Given the description of an element on the screen output the (x, y) to click on. 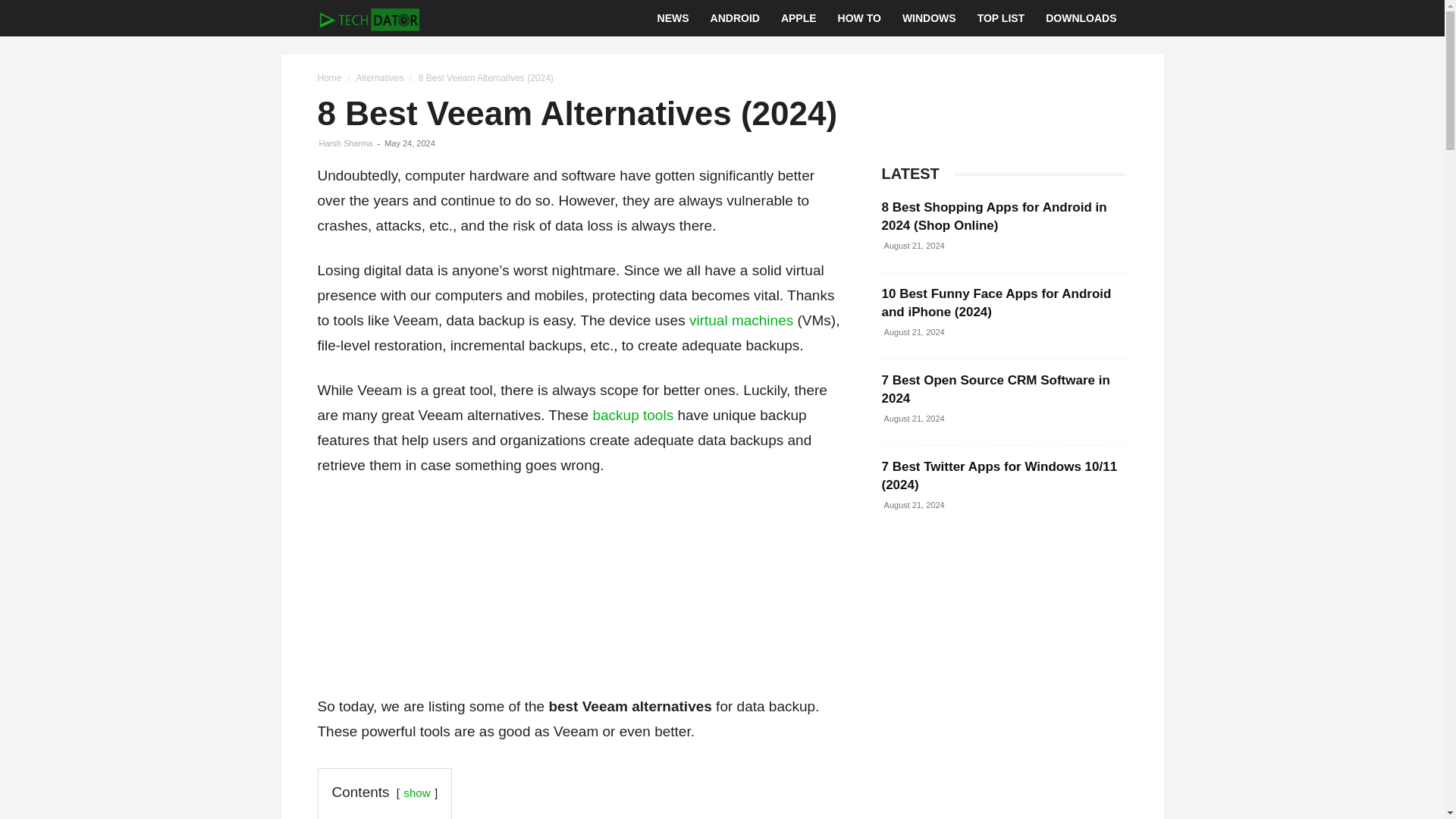
TechDator (368, 18)
TOP LIST (1000, 18)
Alternatives (379, 77)
Home (328, 77)
ANDROID (735, 18)
backup tools (632, 415)
TechDator (368, 18)
virtual machines (740, 320)
NEWS (673, 18)
HOW TO (859, 18)
